Given the description of an element on the screen output the (x, y) to click on. 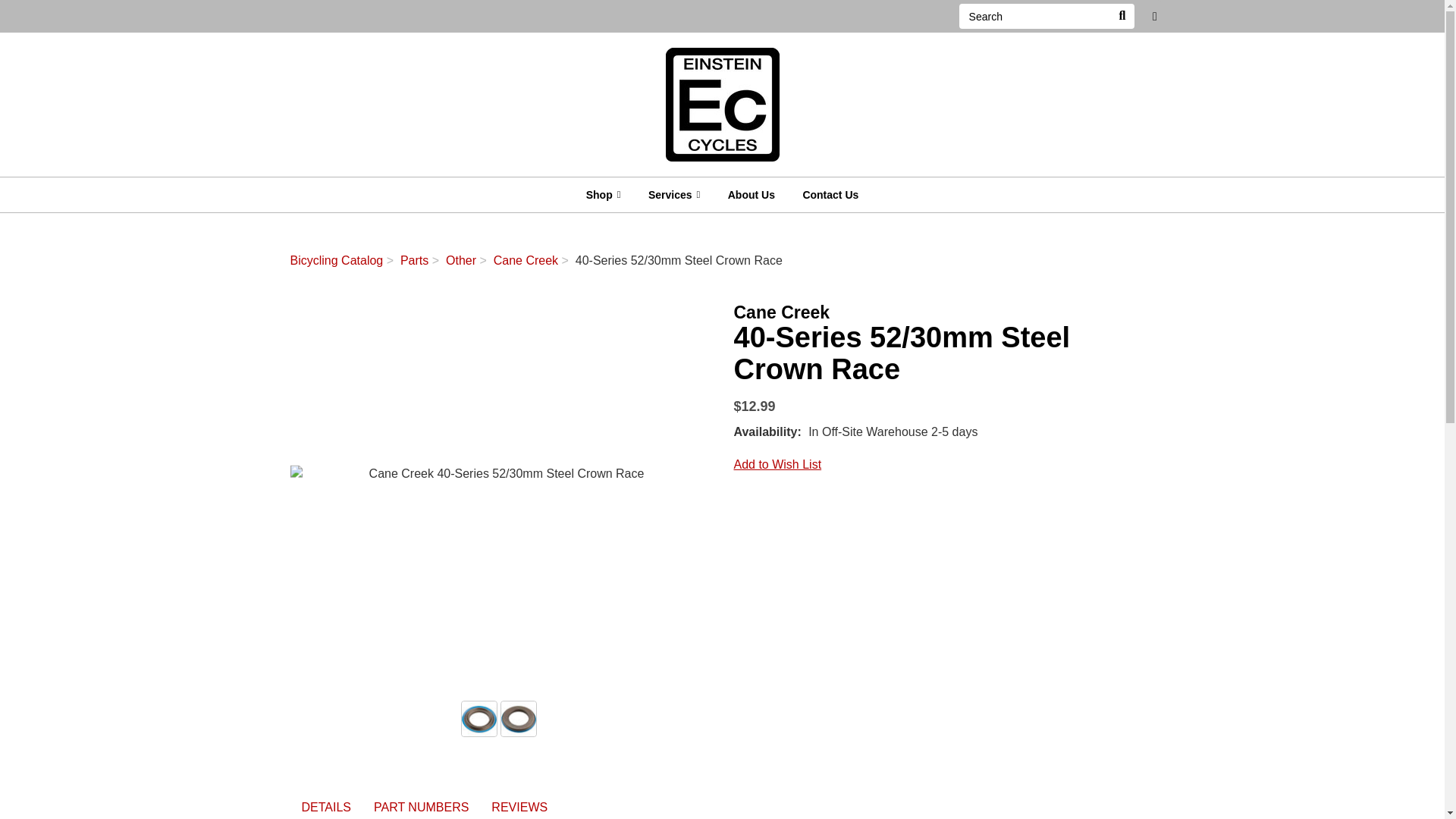
Search (1121, 16)
Search (1034, 16)
Shop (603, 194)
Stores (1155, 16)
Stores (1155, 16)
Einstein Cycles Home Page (721, 103)
